Given the description of an element on the screen output the (x, y) to click on. 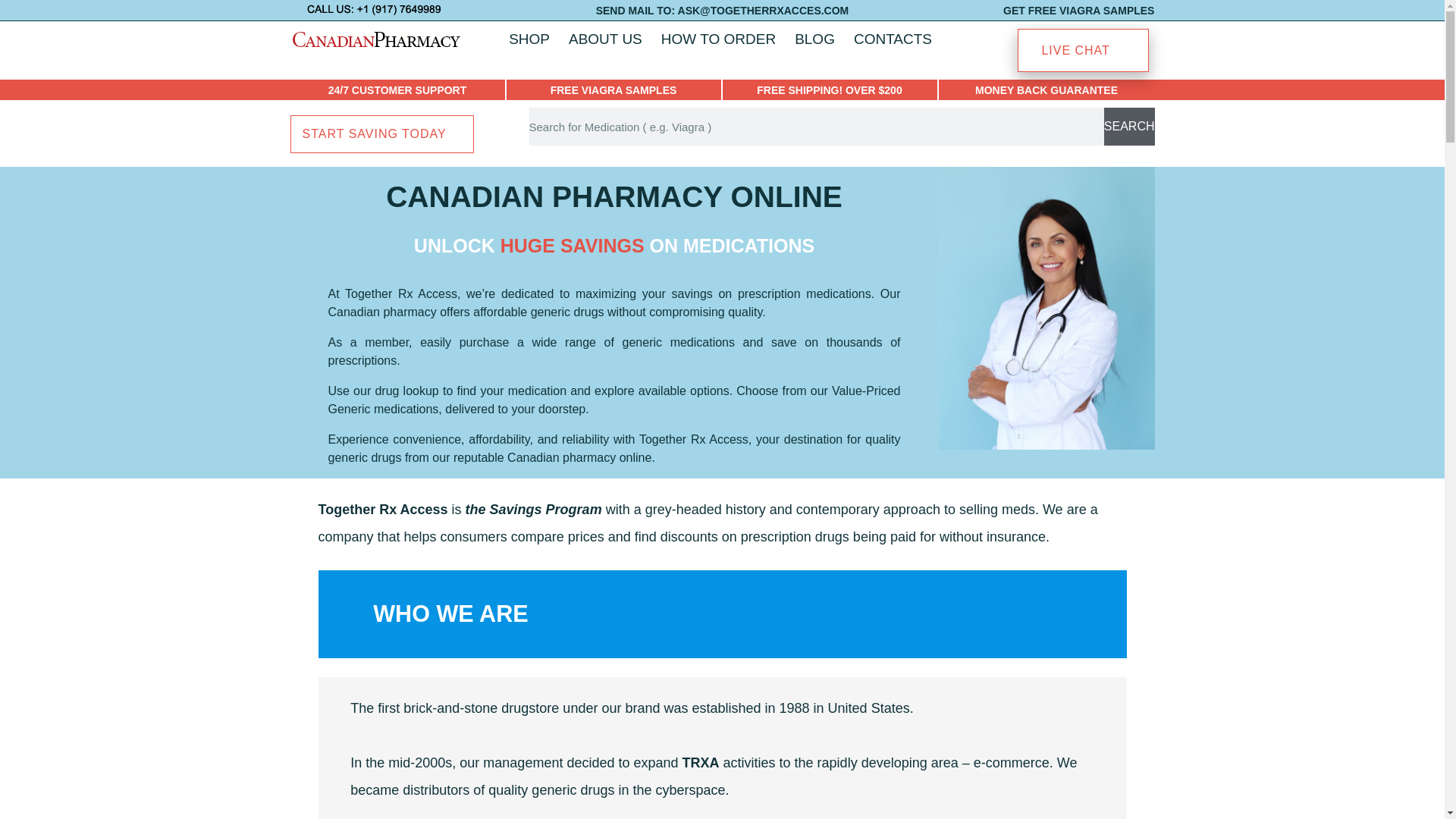
LIVE CHAT (1082, 50)
SEARCH (1128, 126)
CONTACTS (892, 39)
Shop (529, 39)
HOW TO ORDER (718, 39)
Contacts (892, 39)
Blog (814, 39)
About Us (605, 39)
BLOG (814, 39)
START SAVING TODAY (381, 134)
ABOUT US (605, 39)
How to Order (718, 39)
SHOP (529, 39)
